Given the description of an element on the screen output the (x, y) to click on. 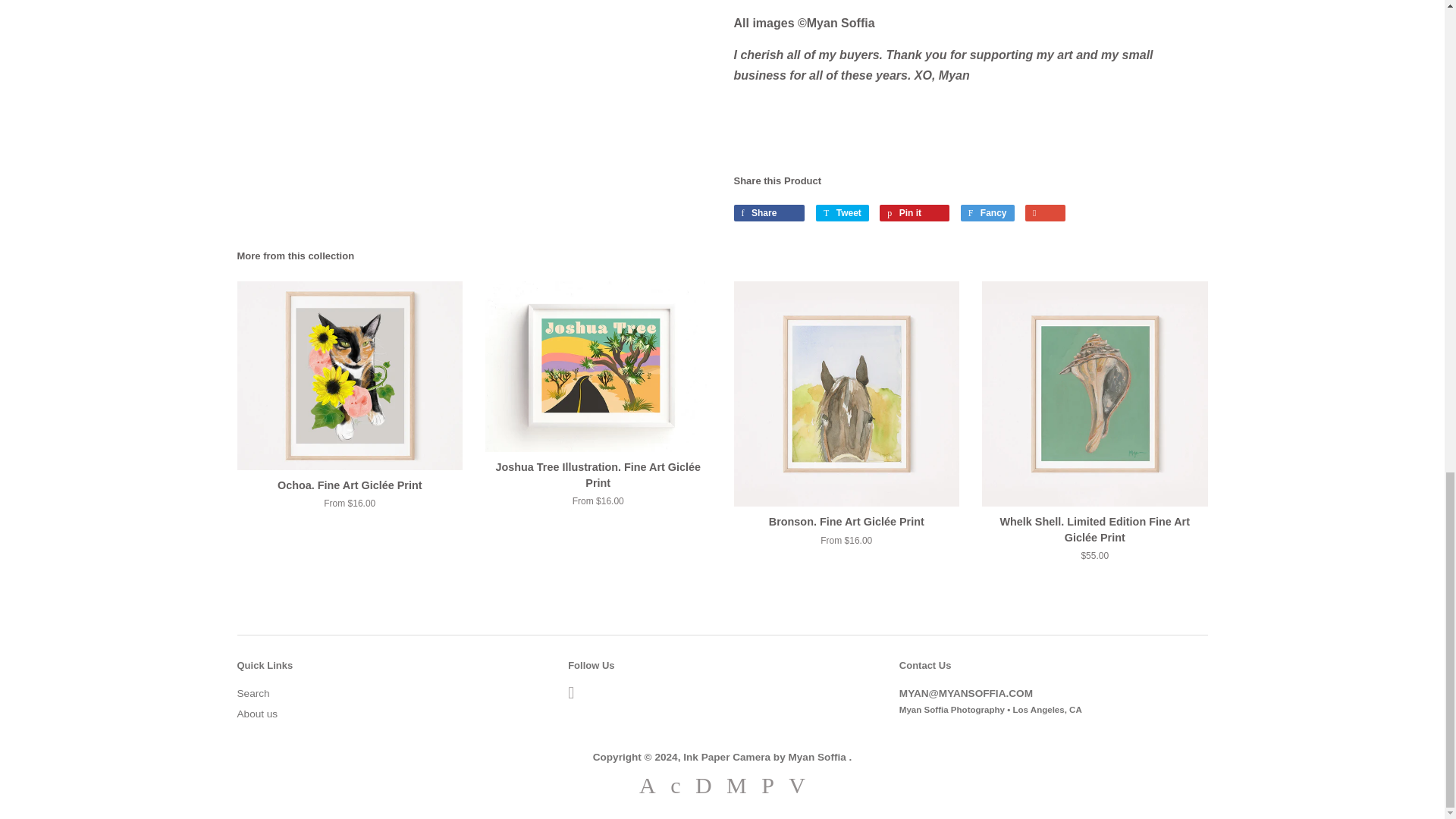
Share on Facebook (769, 212)
Add to Fancy (987, 212)
Pin on Pinterest (914, 212)
Tweet on Twitter (842, 212)
Ink Paper Camera by Myan Soffia  on Instagram (570, 695)
